Given the description of an element on the screen output the (x, y) to click on. 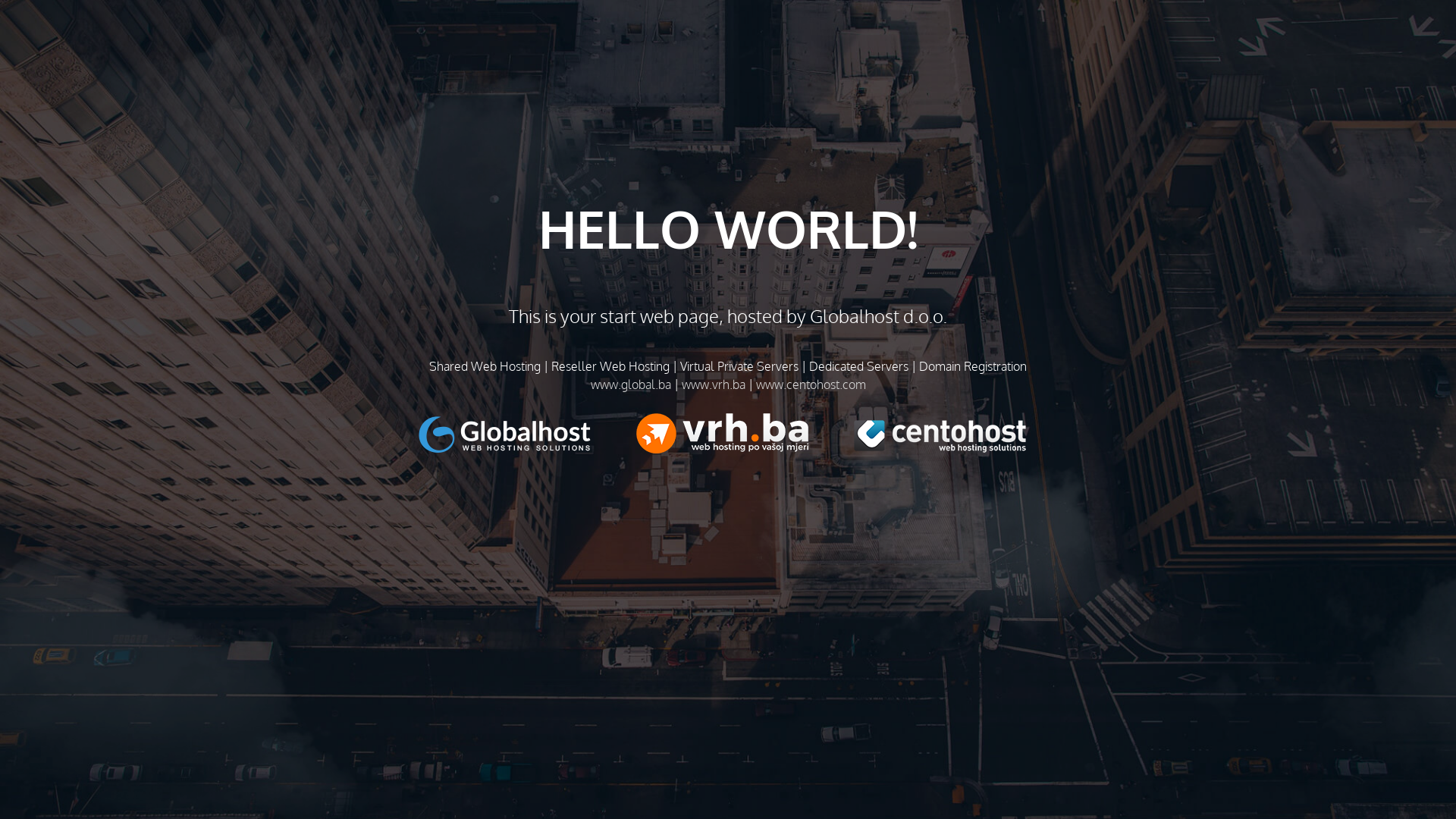
www.centohost.com Element type: text (810, 384)
                Element type: text (527, 433)
                Element type: text (744, 433)
www.global.ba Element type: text (629, 384)
www.vrh.ba Element type: text (712, 384)
